Given the description of an element on the screen output the (x, y) to click on. 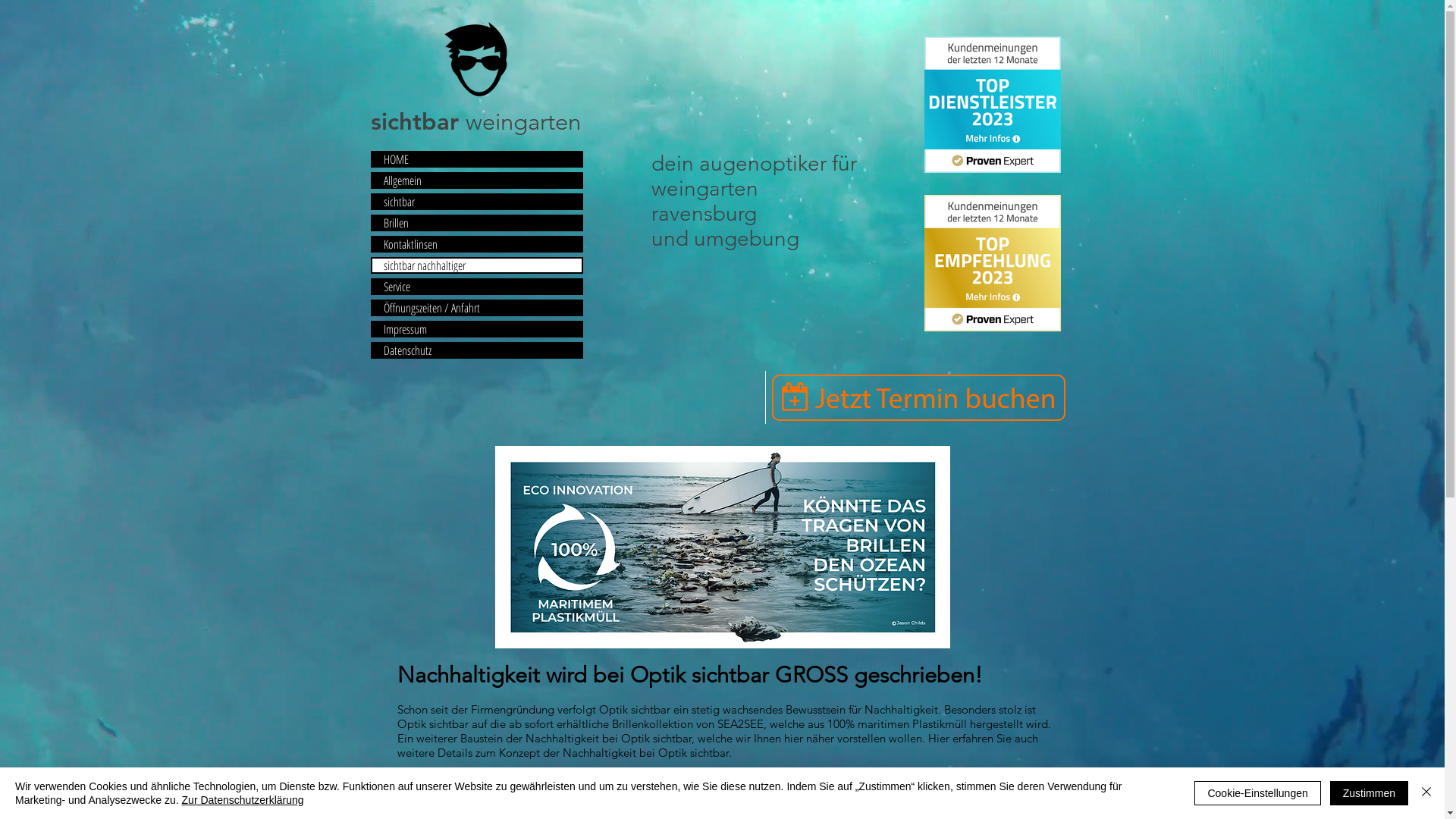
Embedded Content Element type: hover (992, 262)
Allgemein Element type: text (475, 180)
Impressum Element type: text (475, 328)
Kontaktlinsen Element type: text (475, 244)
HOME Element type: text (475, 159)
sichtbar nachhaltiger Element type: text (475, 265)
Embedded Content Element type: hover (992, 104)
Brillen Element type: text (475, 222)
Zustimmen Element type: text (1369, 793)
Service Element type: text (475, 286)
sichtbar Element type: text (475, 201)
Datenschutz Element type: text (475, 350)
Cookie-Einstellungen Element type: text (1257, 793)
